Given the description of an element on the screen output the (x, y) to click on. 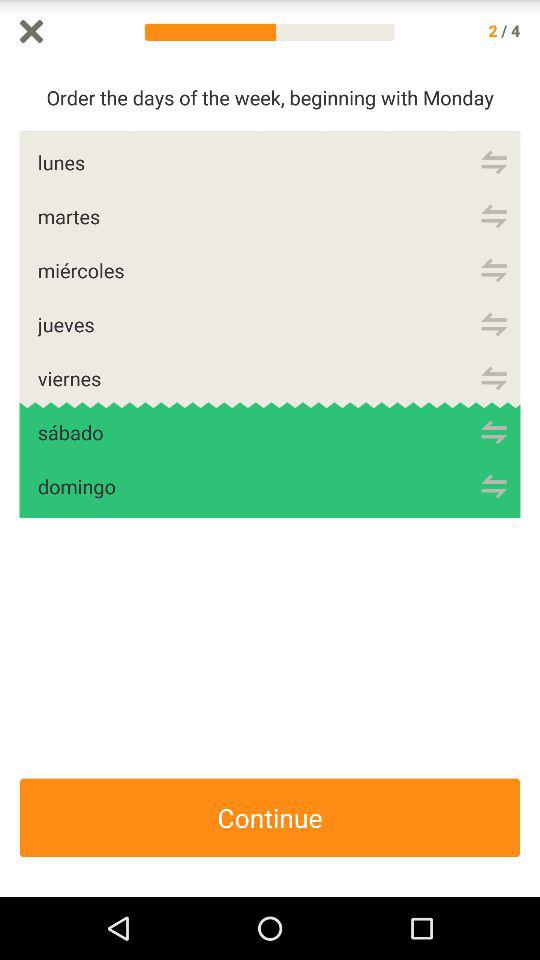
re-arrange word order (494, 324)
